Given the description of an element on the screen output the (x, y) to click on. 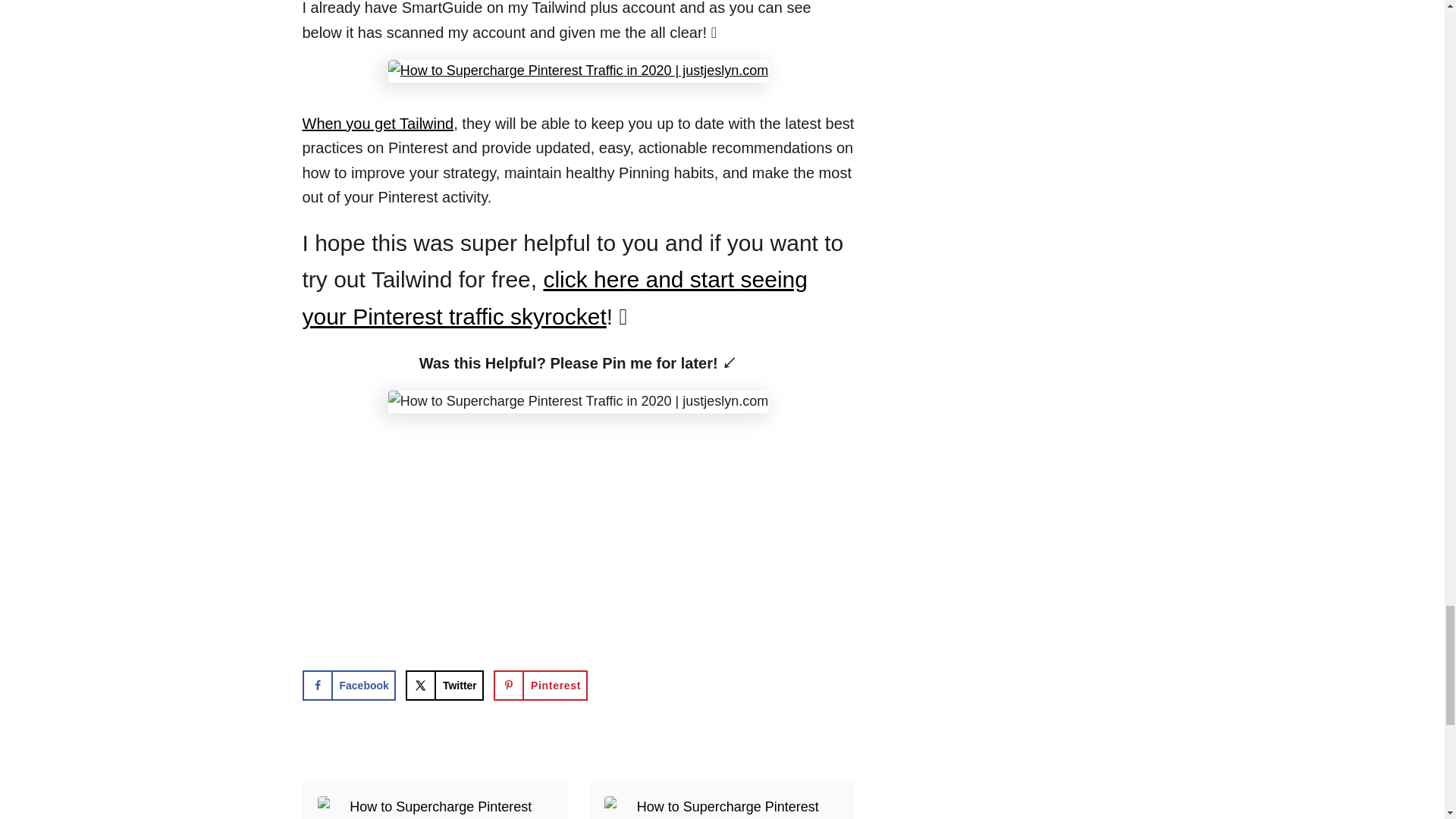
Share on X (444, 685)
Facebook (347, 685)
Twitter (444, 685)
When you get Tailwind (376, 123)
Save to Pinterest (540, 685)
Share on Facebook (347, 685)
Pinterest (540, 685)
click here and start seeing your Pinterest traffic skyrocket (553, 297)
